Given the description of an element on the screen output the (x, y) to click on. 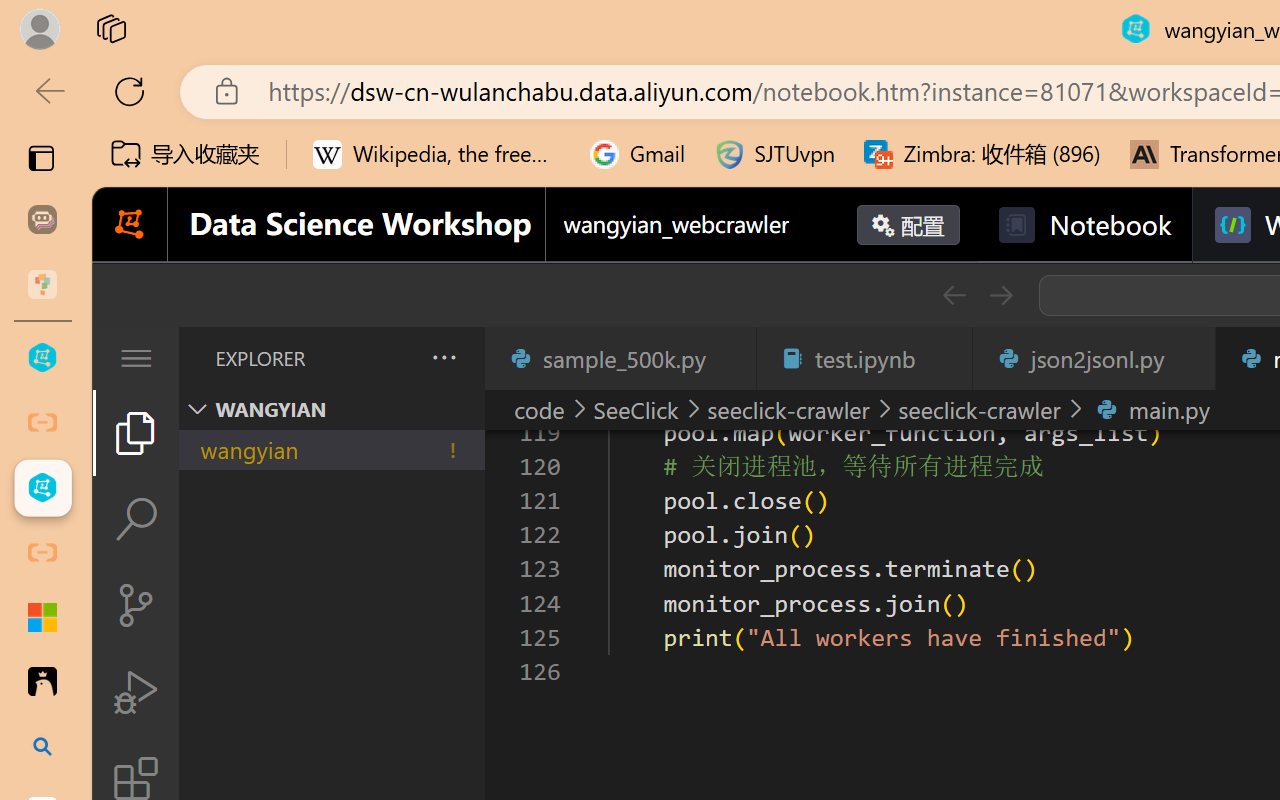
Tab actions (1188, 358)
Run and Debug (Ctrl+Shift+D) (135, 692)
Explorer actions (391, 358)
Class: menubar compact overflow-menu-only (135, 358)
Application Menu (135, 358)
Adjust indents and spacing - Microsoft Support (42, 617)
Source Control (Ctrl+Shift+G) (135, 604)
test.ipynb (864, 358)
